Given the description of an element on the screen output the (x, y) to click on. 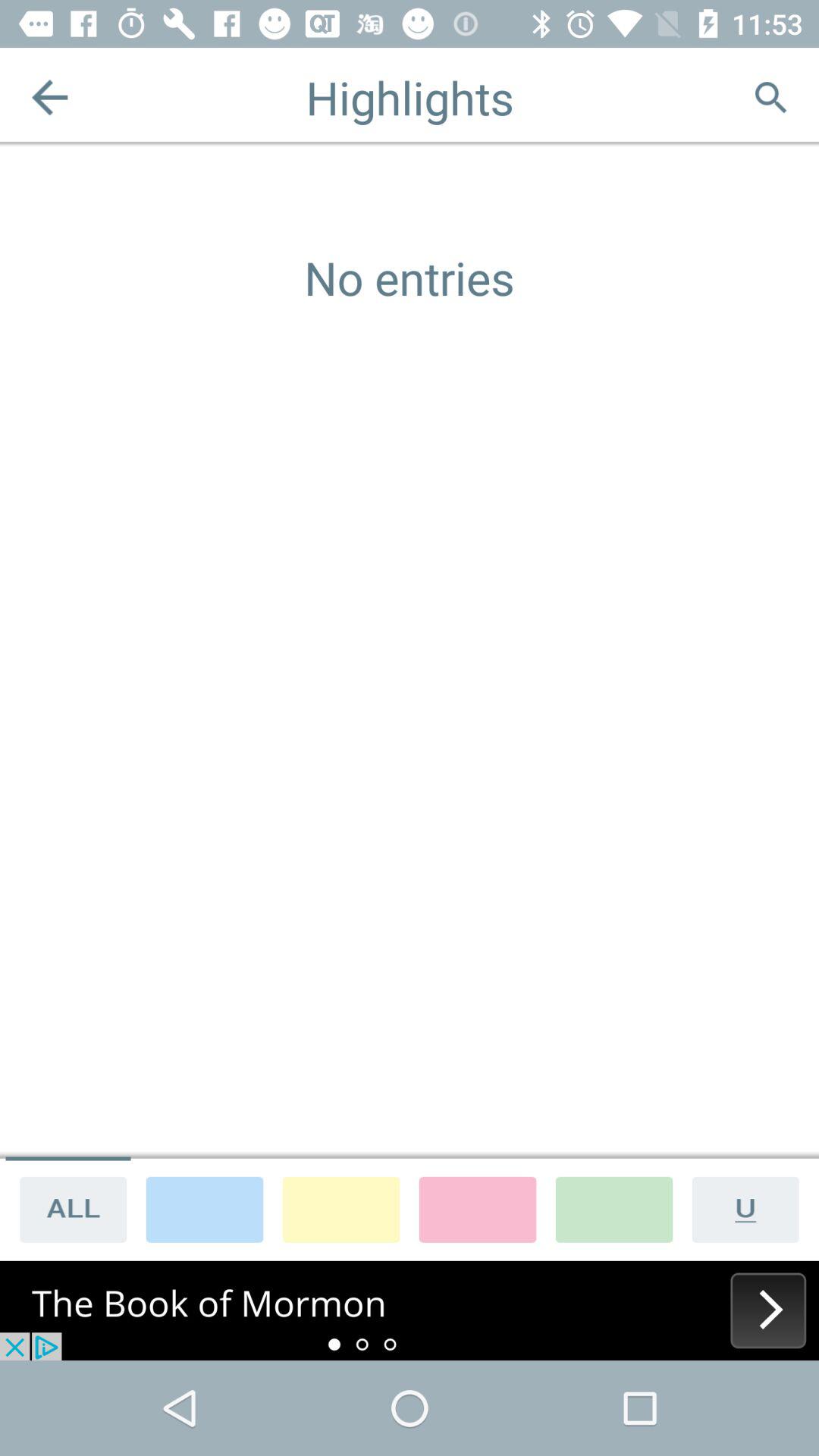
click background color (614, 1208)
